Given the description of an element on the screen output the (x, y) to click on. 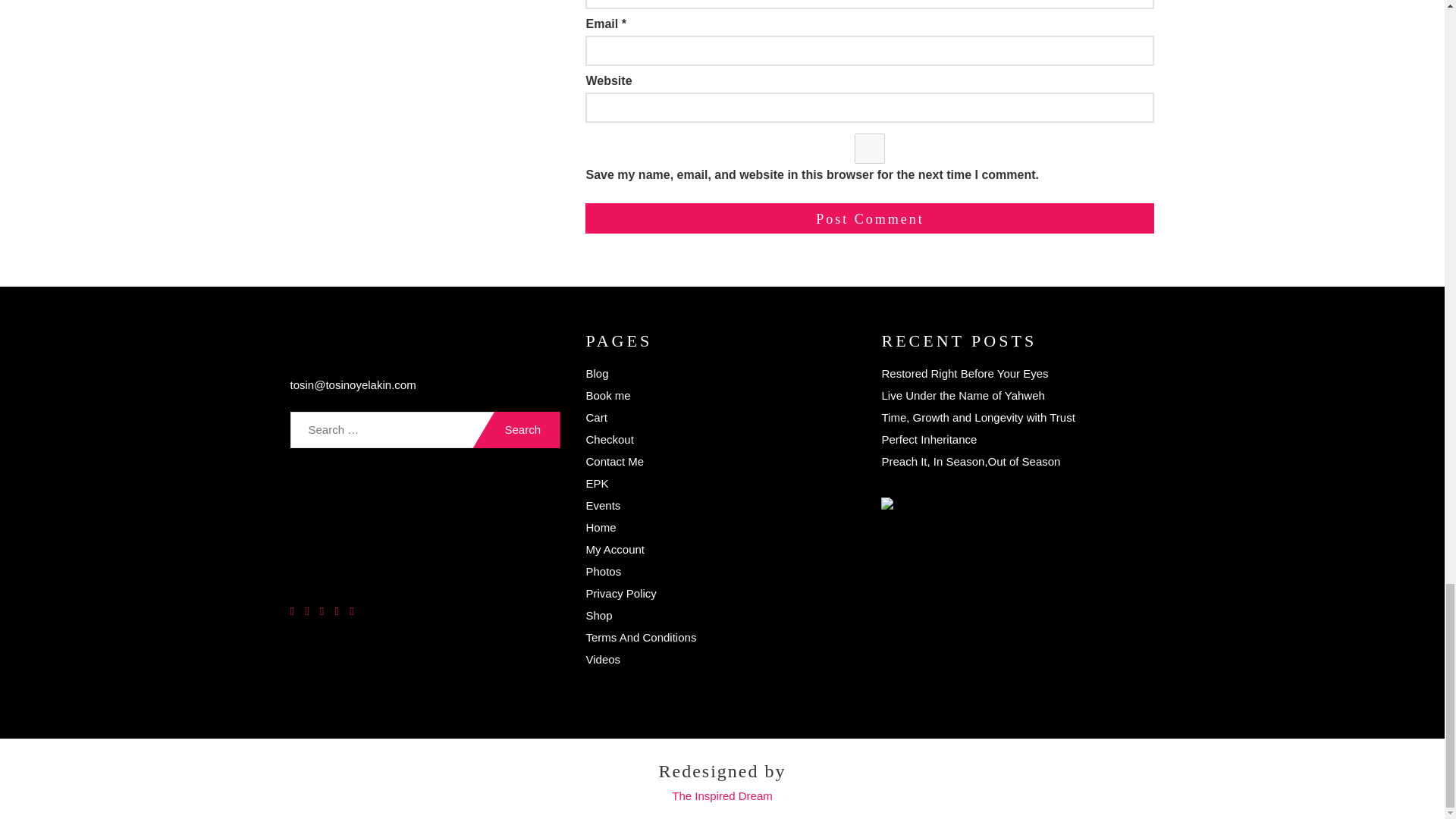
Cart (596, 417)
Book me (607, 395)
Contact Me (614, 461)
Post Comment (869, 218)
Search (515, 429)
Search (515, 429)
Post Comment (869, 218)
Blog (596, 373)
Checkout (609, 439)
Search (515, 429)
